Given the description of an element on the screen output the (x, y) to click on. 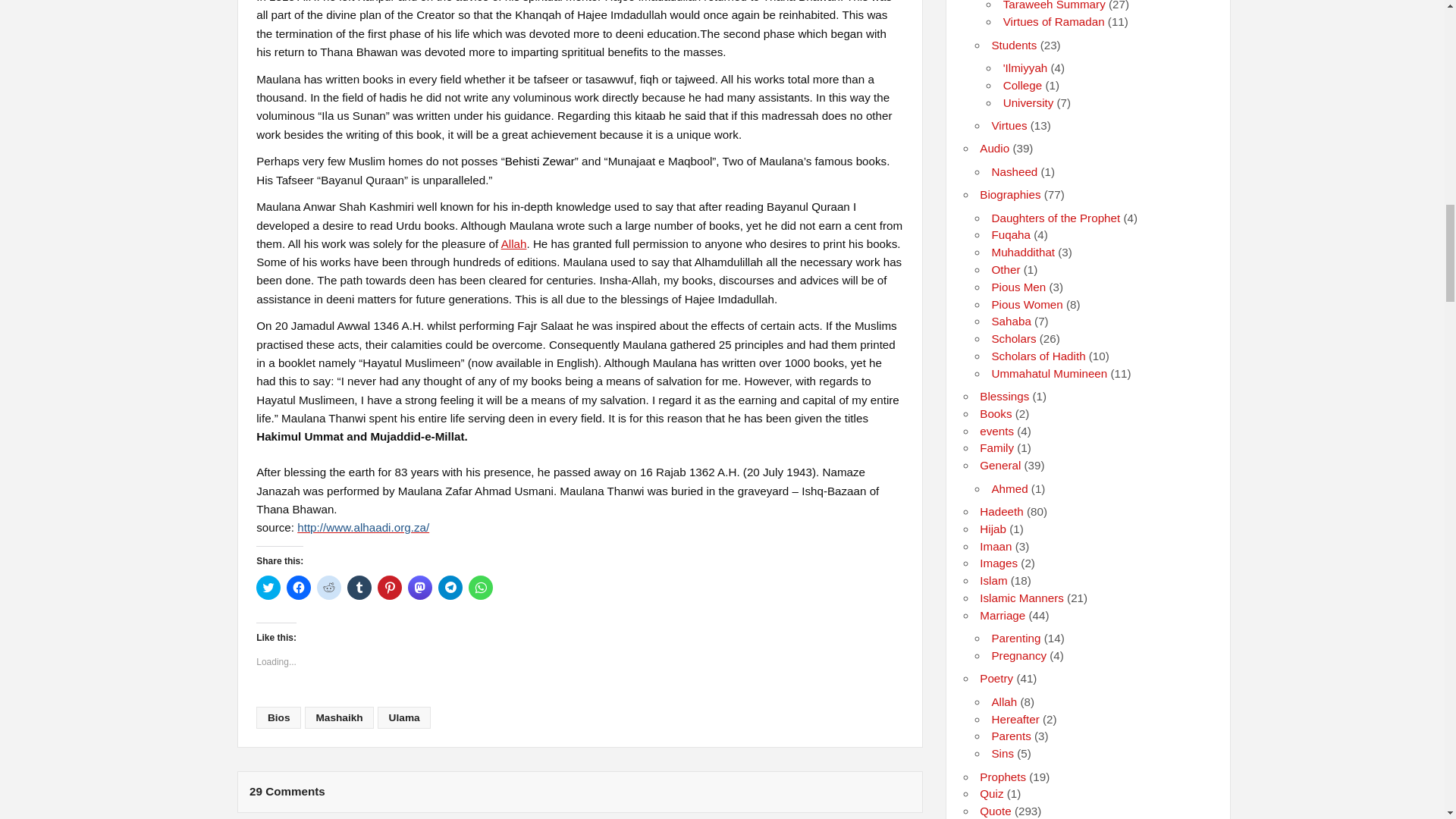
Click to share on Mastodon (419, 587)
Click to share on Twitter (268, 587)
Click to share on Tumblr (359, 587)
Click to share on Reddit (328, 587)
Click to share on Facebook (298, 587)
Allah (513, 243)
Click to share on Pinterest (389, 587)
Click to share on Telegram (450, 587)
